Given the description of an element on the screen output the (x, y) to click on. 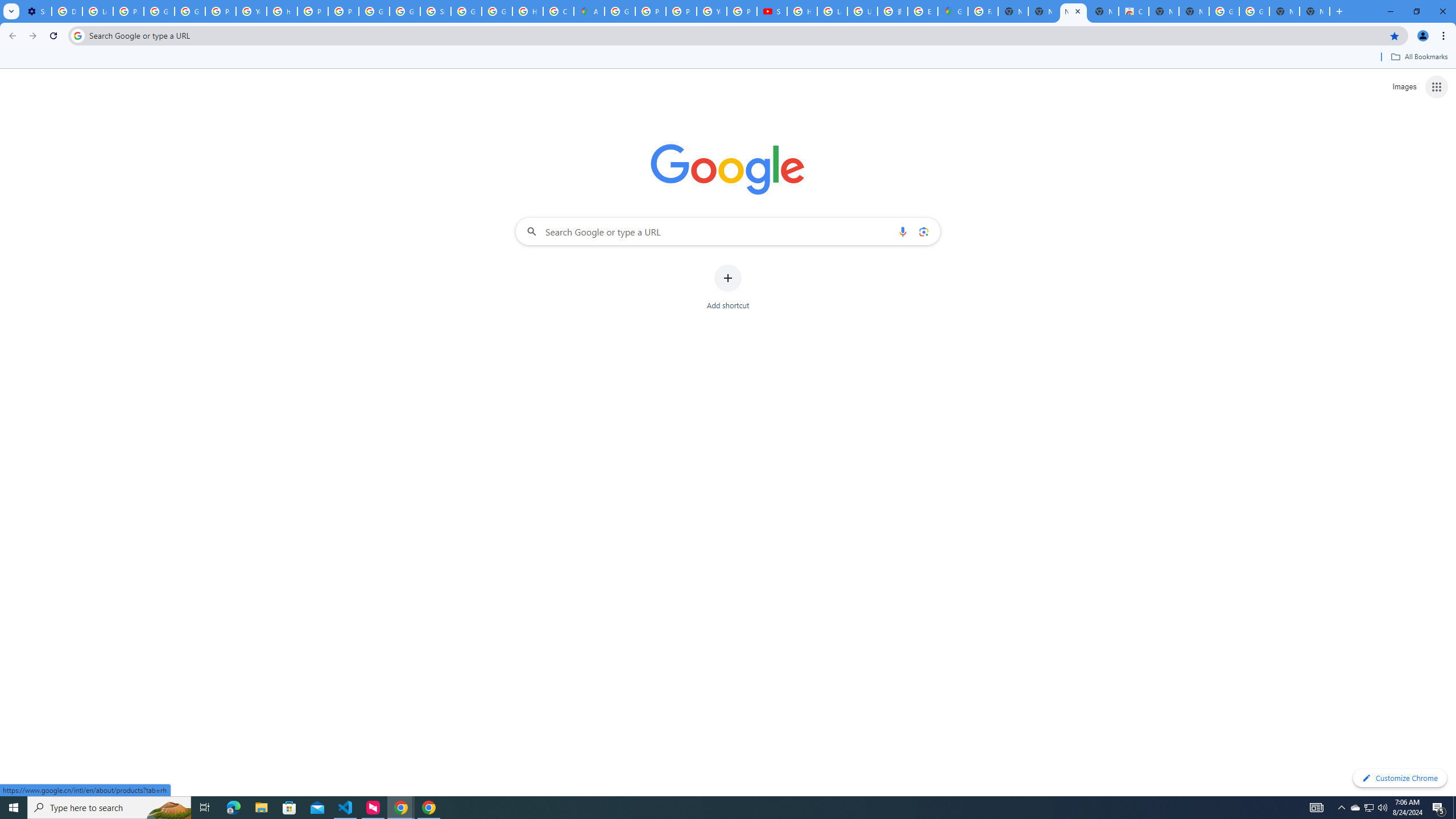
Explore new street-level details - Google Maps Help (922, 11)
Delete photos & videos - Computer - Google Photos Help (66, 11)
YouTube (251, 11)
Create your Google Account (558, 11)
Chrome Web Store (1133, 11)
